Given the description of an element on the screen output the (x, y) to click on. 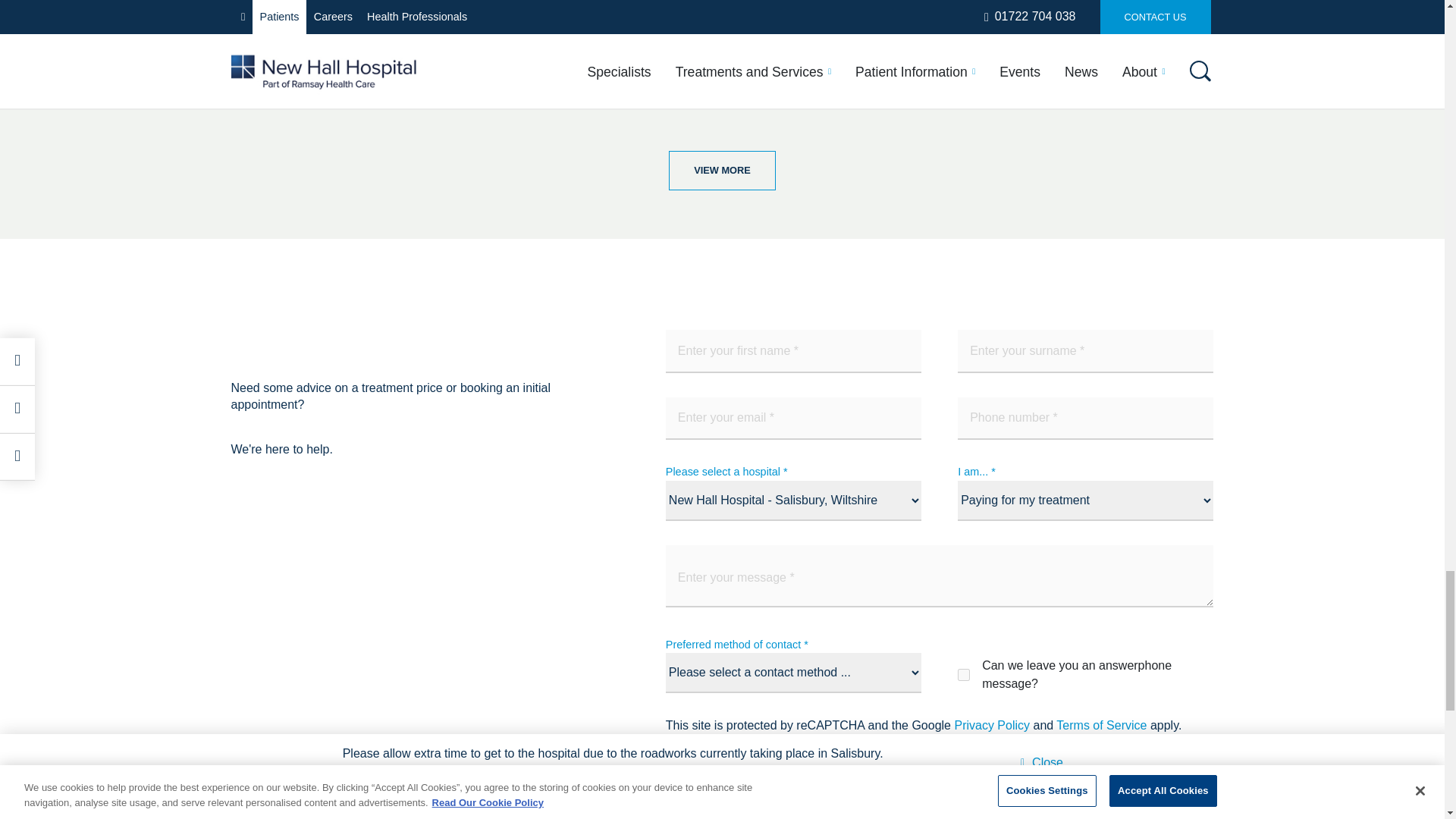
Submit (708, 814)
on (963, 674)
